Given the description of an element on the screen output the (x, y) to click on. 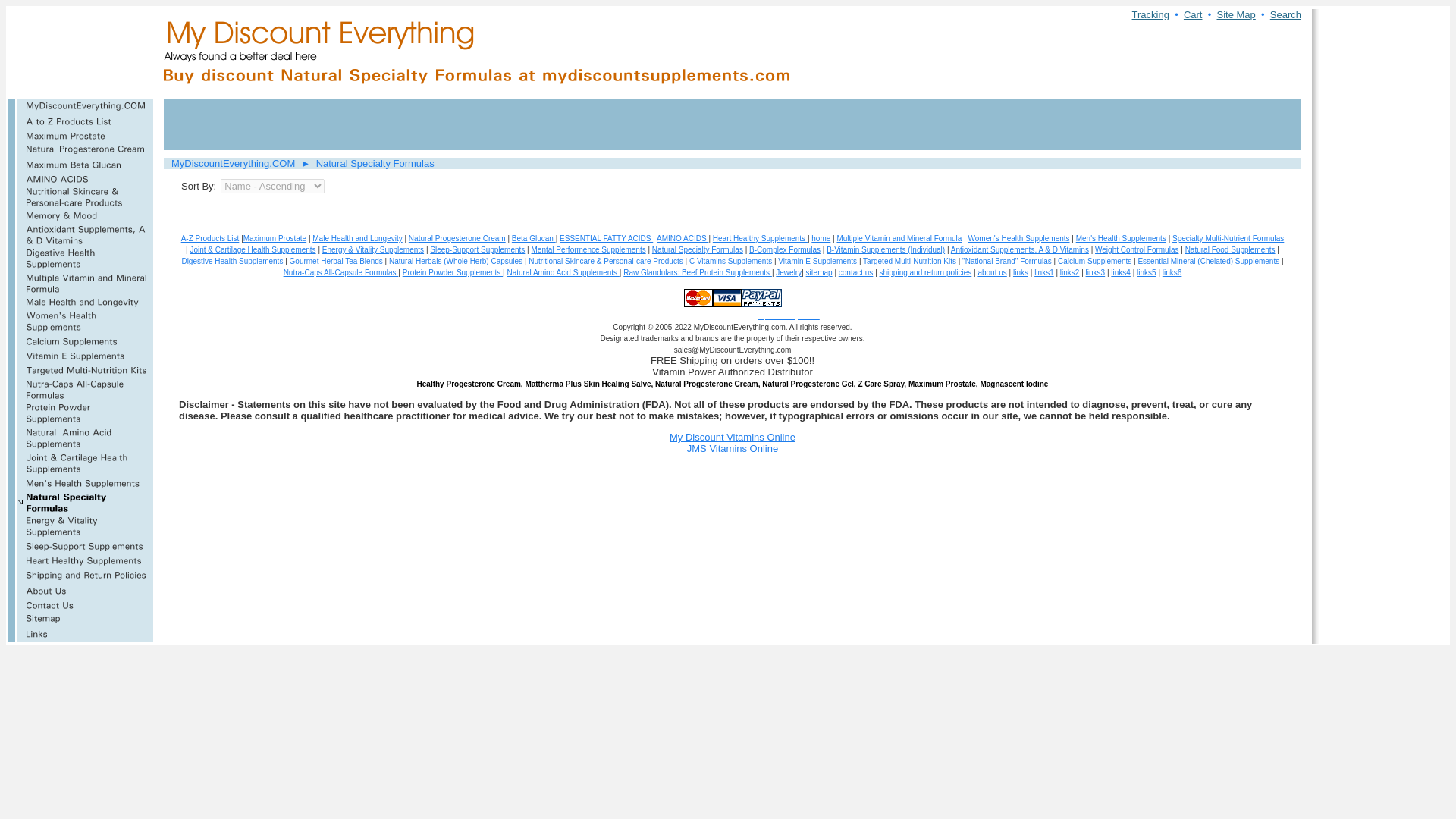
Cart (1192, 14)
Maximum Prostate (274, 238)
Tracking (1150, 14)
MyDiscountEverything.COM (233, 163)
Natural Progesterone Cream (457, 238)
Site Map (1235, 14)
Male Health and Longevity (357, 238)
Natural Specialty Formulas (374, 163)
Search (1285, 14)
A-Z Products List (210, 238)
